Given the description of an element on the screen output the (x, y) to click on. 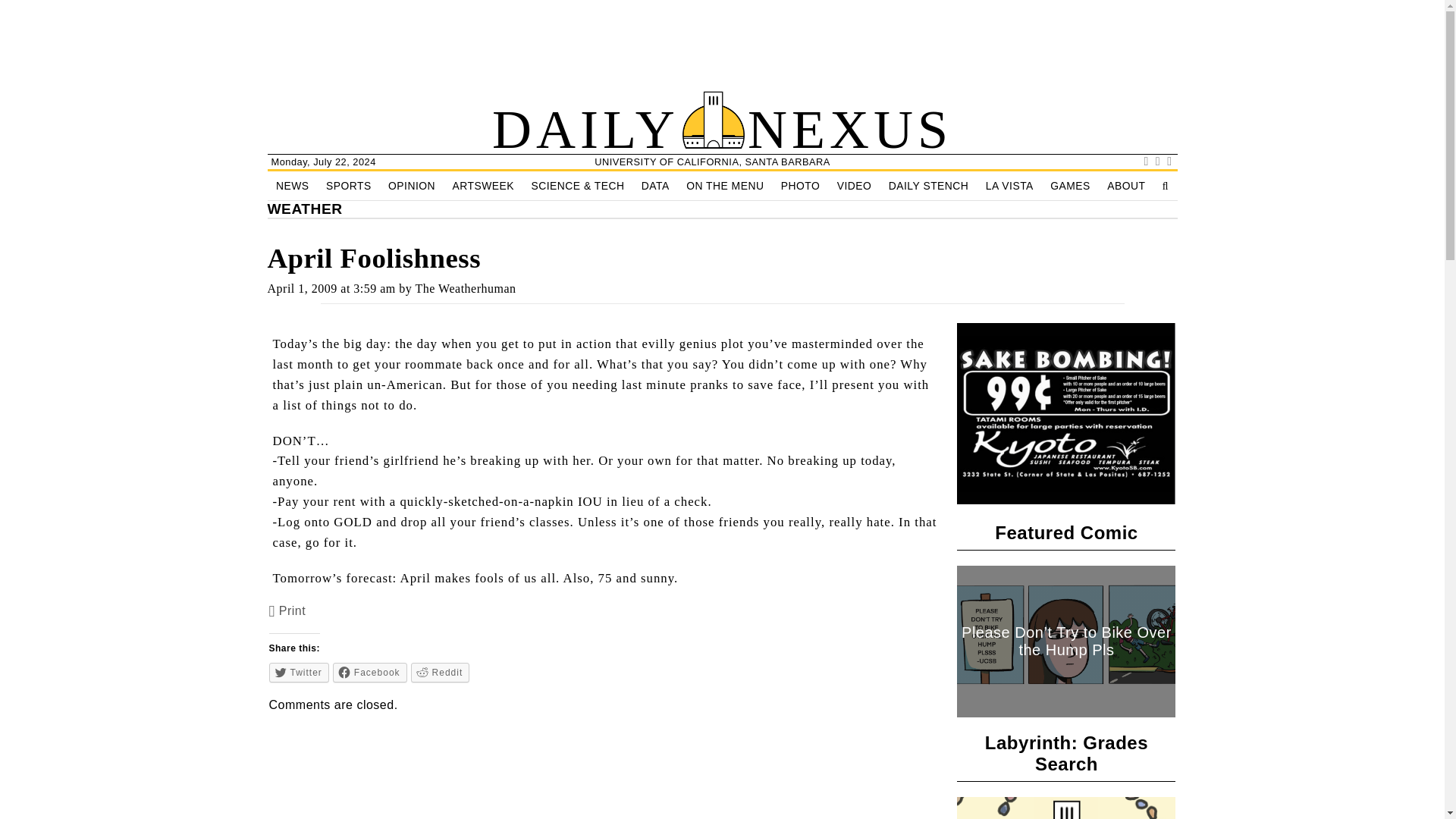
Posts by The Weatherhuman (465, 287)
Click to share on Reddit (440, 672)
Click to share on Twitter (299, 672)
Click to share on Facebook (370, 672)
